Given the description of an element on the screen output the (x, y) to click on. 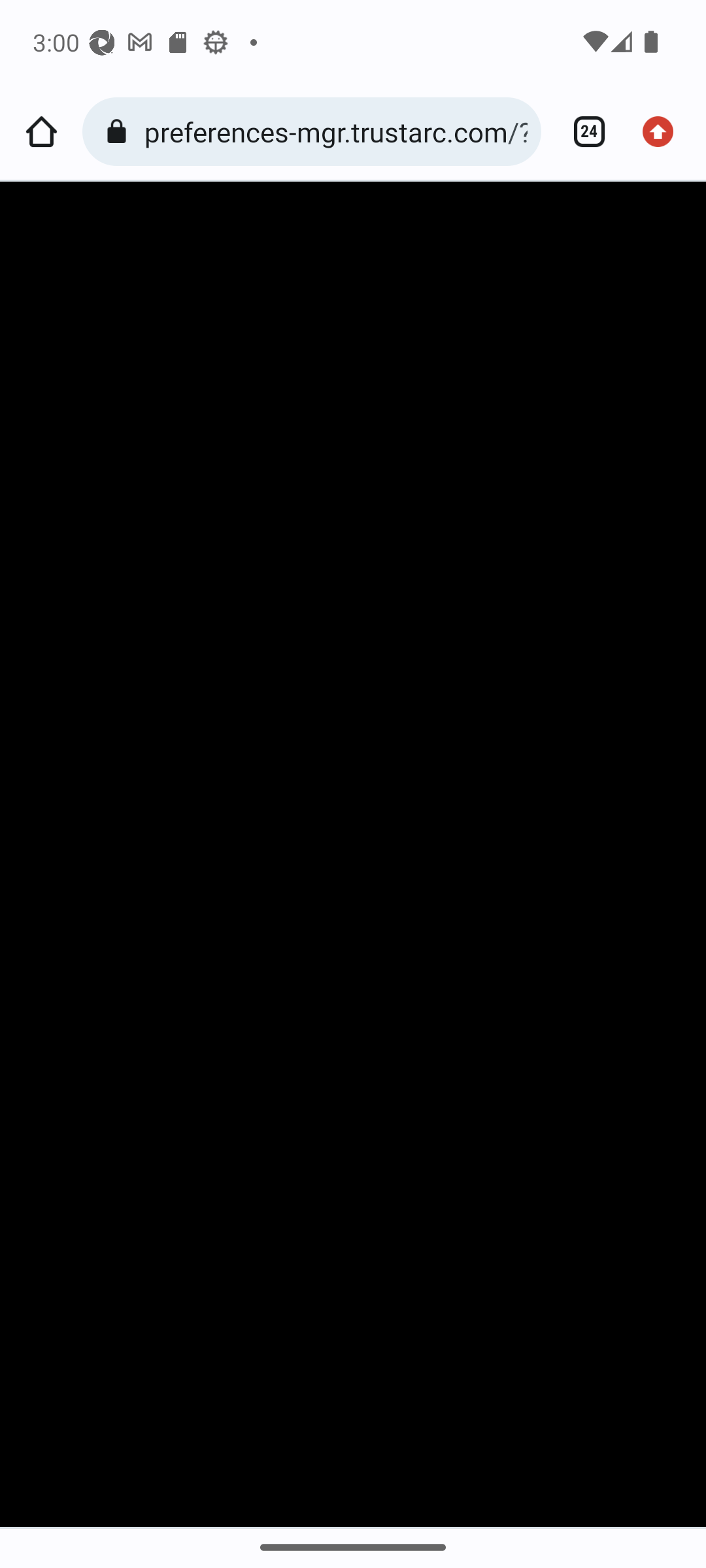
Home (41, 131)
Connection is secure (120, 131)
Switch or close tabs (582, 131)
Update available. More options (664, 131)
